Given the description of an element on the screen output the (x, y) to click on. 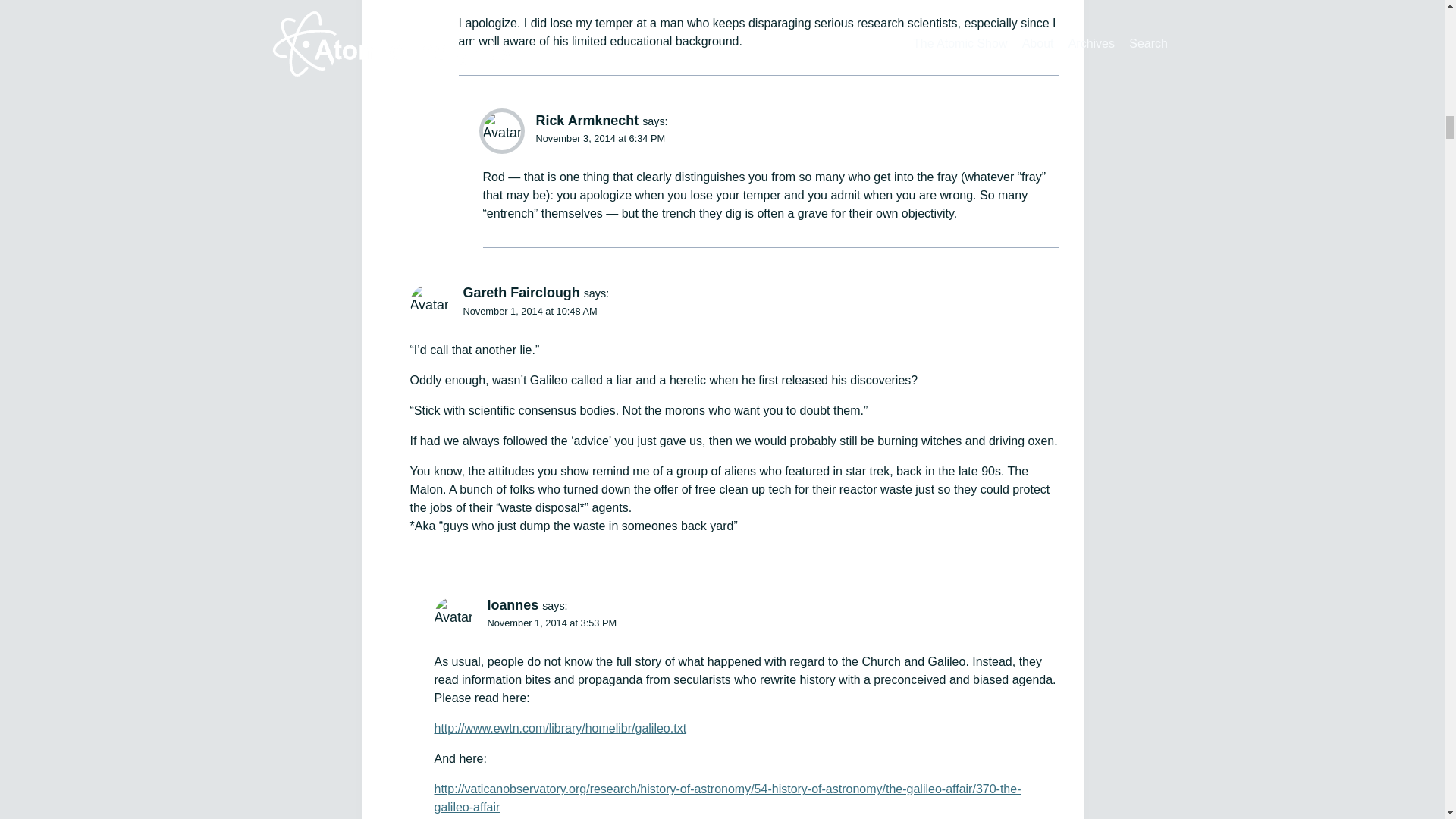
November 3, 2014 at 6:34 PM (600, 138)
